Given the description of an element on the screen output the (x, y) to click on. 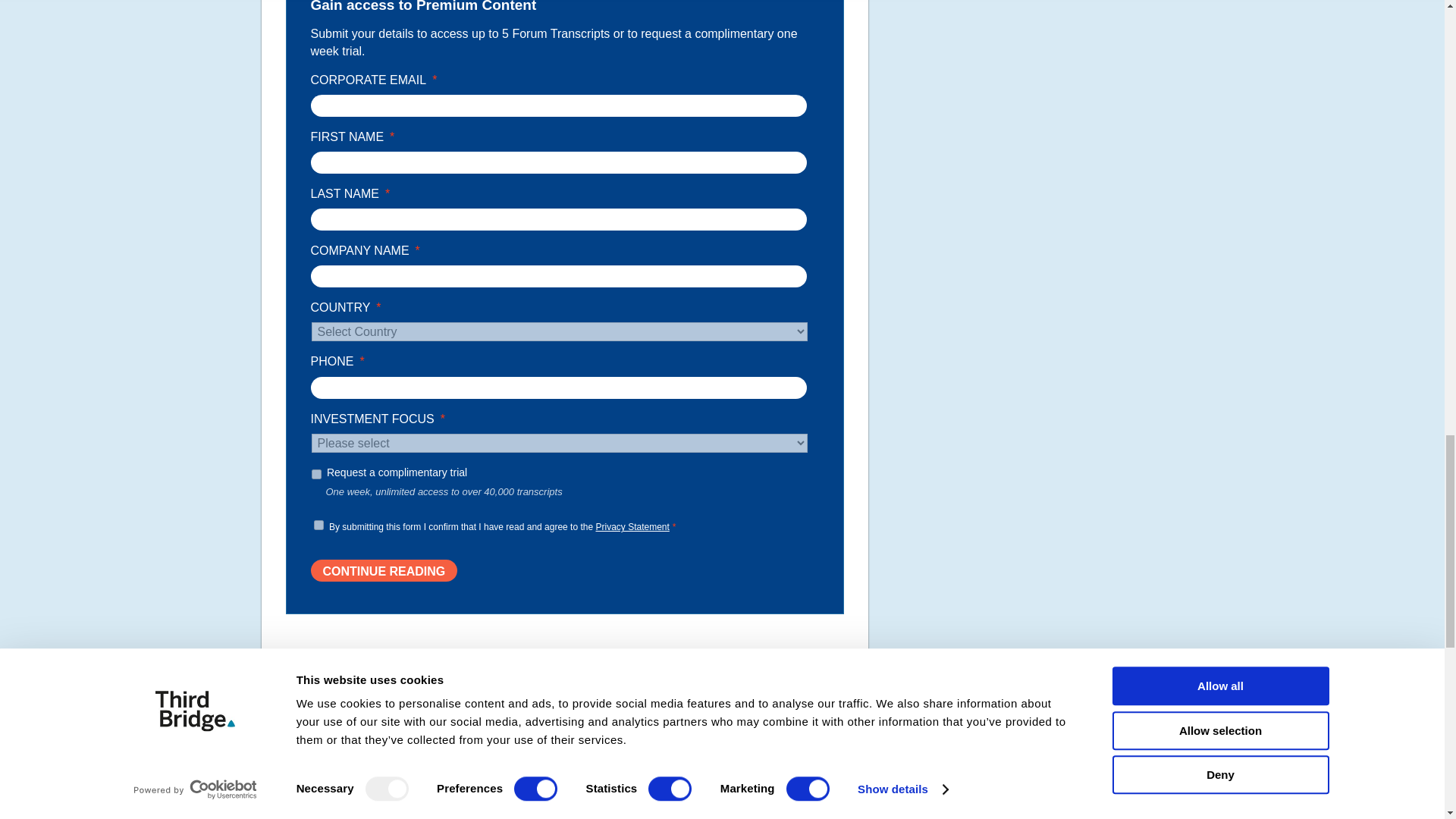
Continue Reading (384, 570)
1 (318, 524)
TRUE (315, 474)
